Given the description of an element on the screen output the (x, y) to click on. 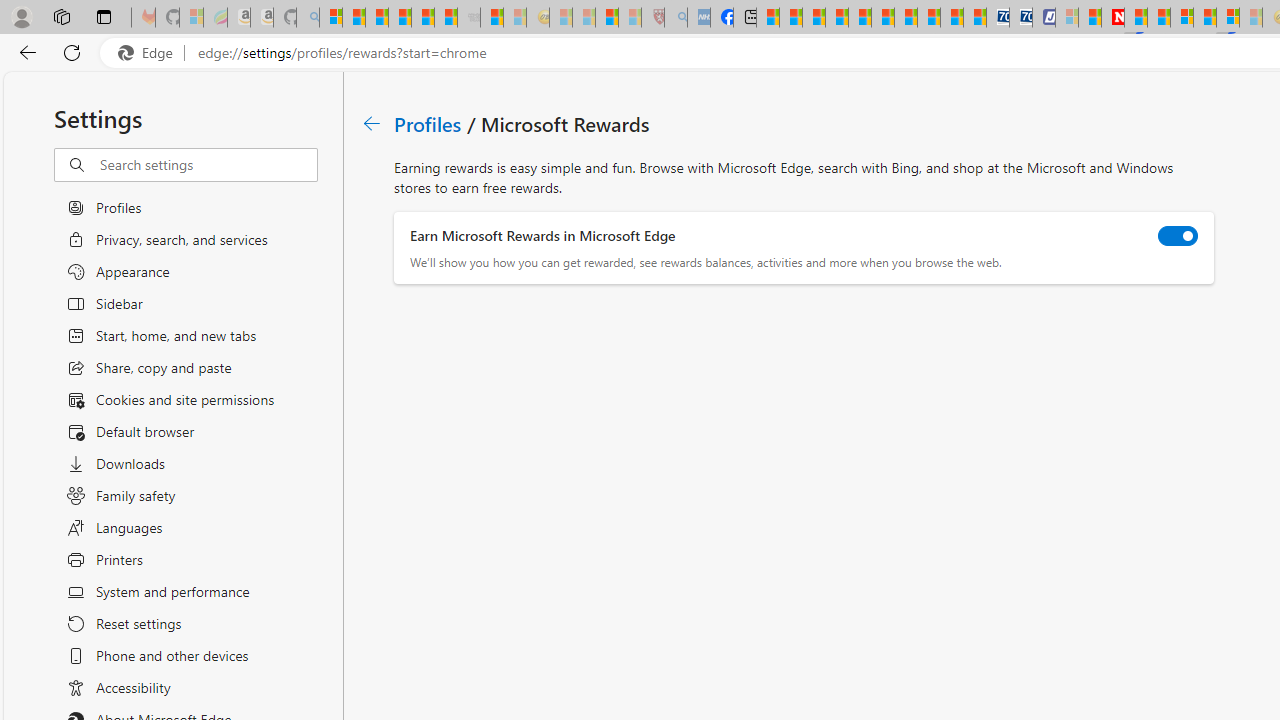
Search settings (207, 165)
Class: c01179 (371, 123)
Combat Siege - Sleeping (468, 17)
12 Popular Science Lies that Must be Corrected - Sleeping (630, 17)
Climate Damage Becomes Too Severe To Reverse (836, 17)
World - MSN (813, 17)
